Given the description of an element on the screen output the (x, y) to click on. 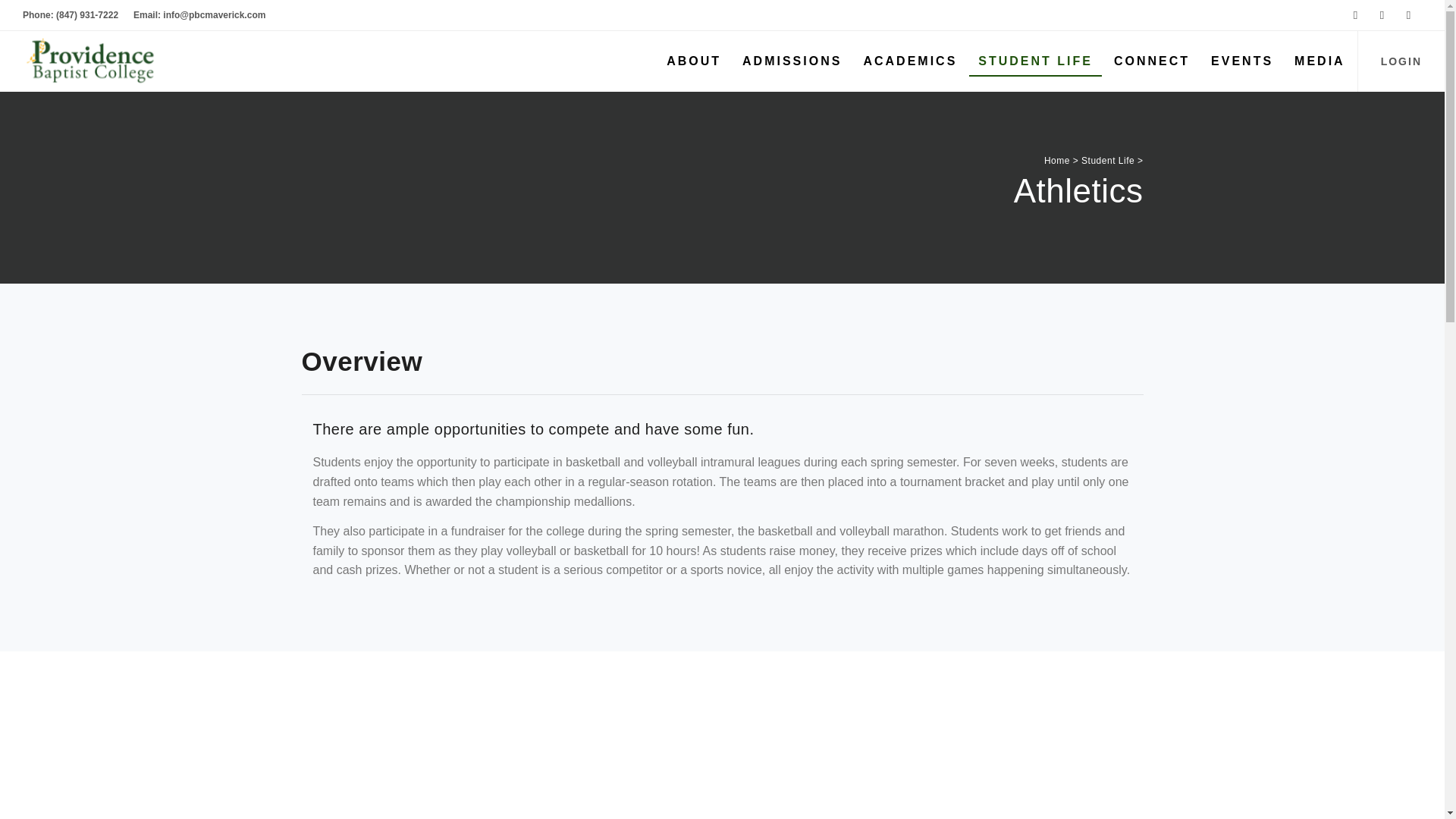
CONNECT (1151, 60)
STUDENT LIFE (1035, 60)
ACADEMICS (909, 60)
ADMISSIONS (791, 60)
EVENTS (1242, 60)
ABOUT (694, 60)
